Given the description of an element on the screen output the (x, y) to click on. 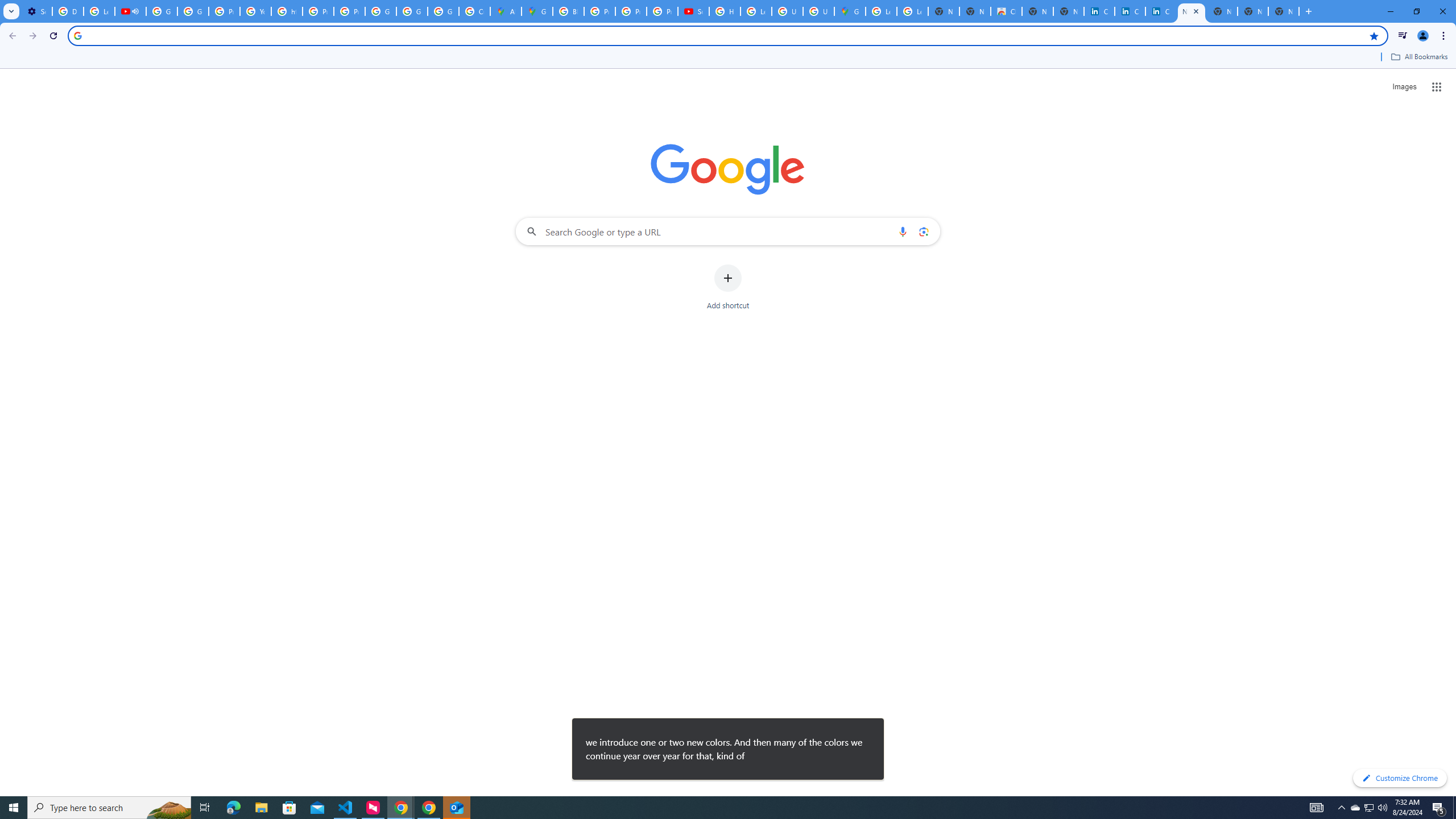
Chrome Web Store (1005, 11)
